Given the description of an element on the screen output the (x, y) to click on. 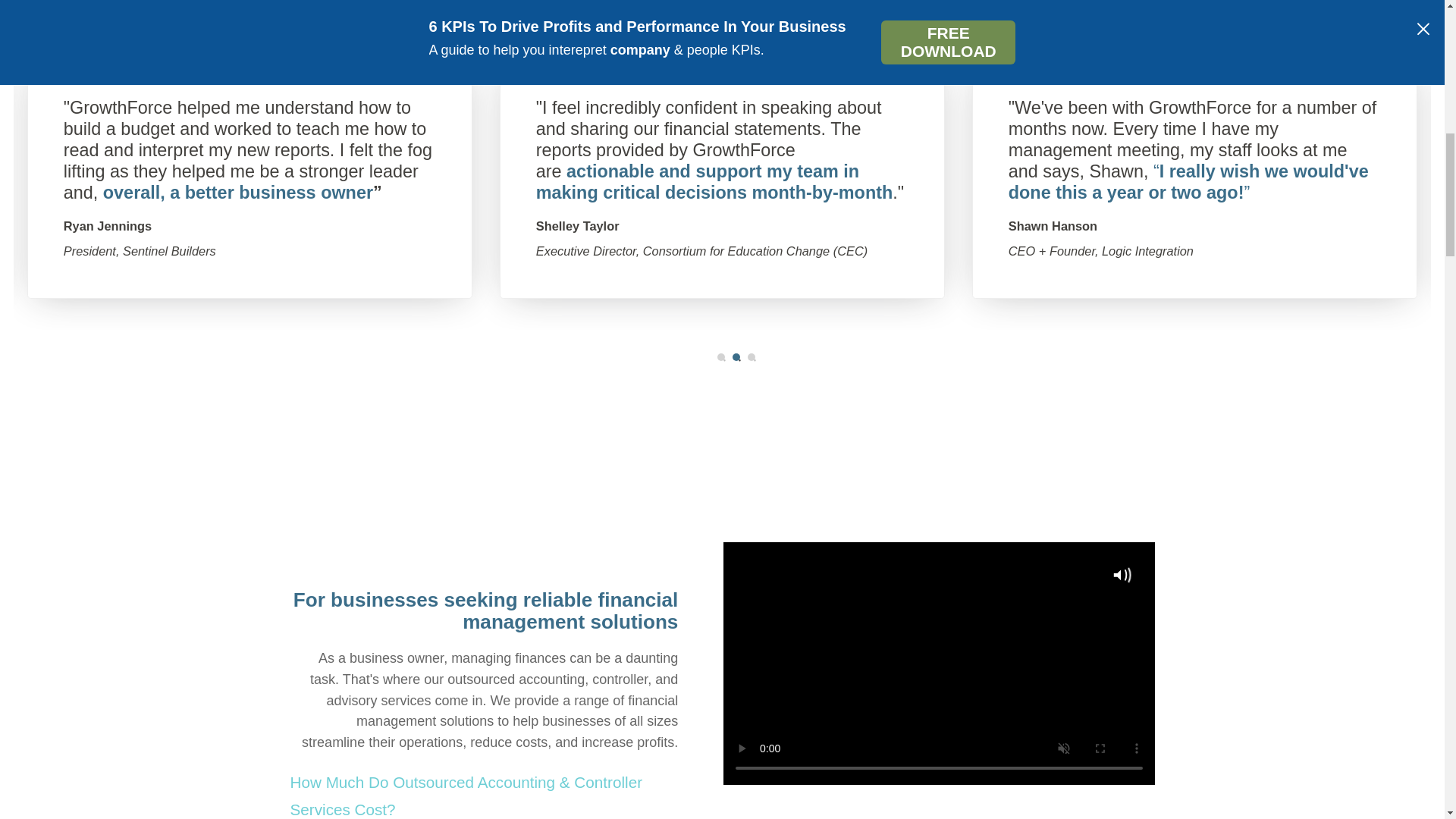
1 (721, 356)
2 (735, 356)
3 (751, 356)
